Given the description of an element on the screen output the (x, y) to click on. 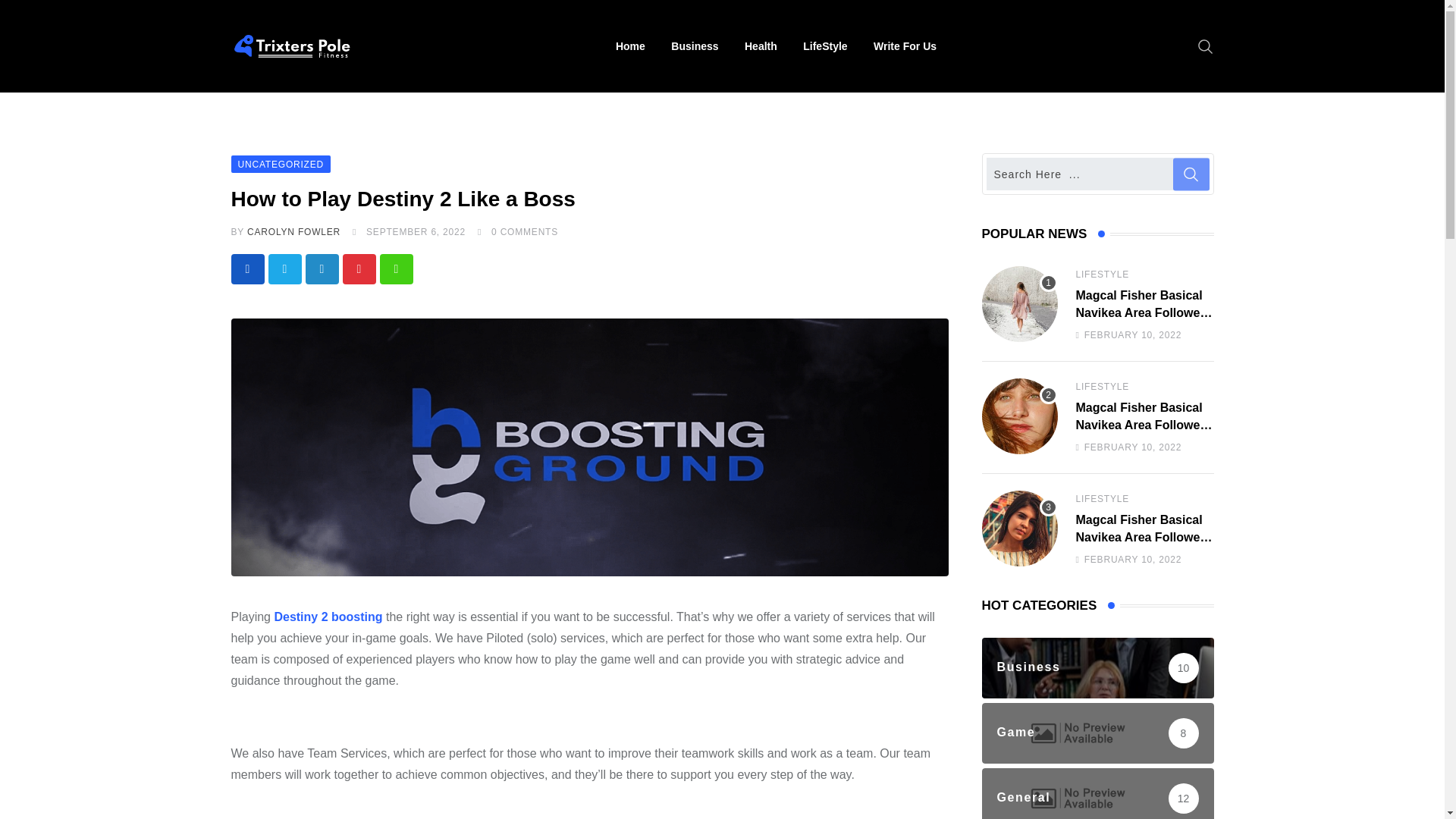
LinkedIn (320, 268)
Magcal Fisher Basical Navikea Area Follower Power To Conjure (1019, 528)
CAROLYN FOWLER (293, 231)
Write For Us (904, 46)
Pinterest (358, 268)
Search (1205, 45)
Whatsapp (395, 268)
UNCATEGORIZED (280, 163)
Magcal Fisher Basical Navikea Area Follower Power To Conjure (1019, 416)
Magcal Fisher Basical Navikea Area Follower Power To Conjure (1019, 304)
Posts by Carolyn Fowler (293, 231)
Destiny 2 boosting (327, 616)
